Given the description of an element on the screen output the (x, y) to click on. 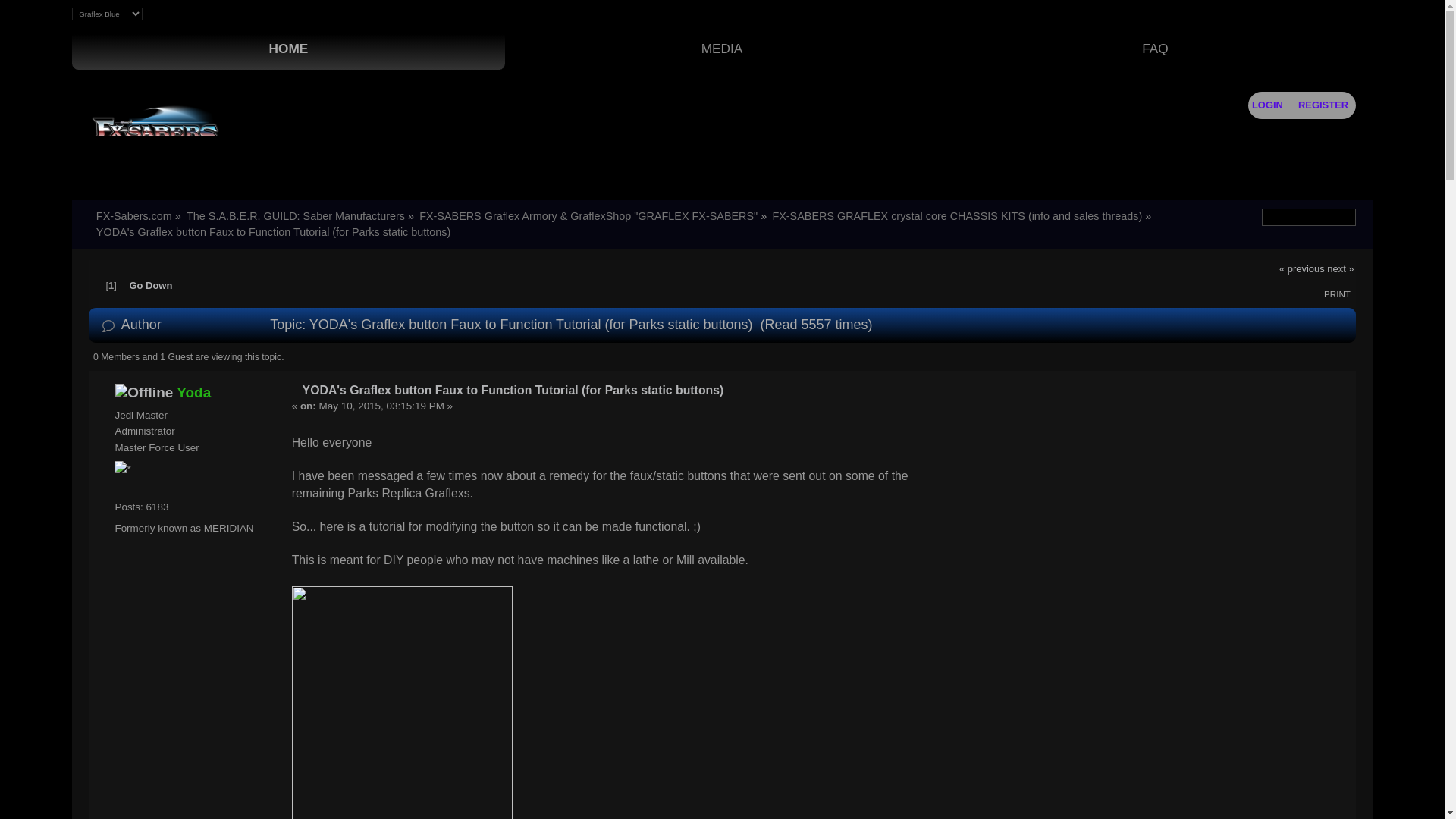
The S.A.B.E.R. GUILD: Saber Manufacturers (295, 215)
Home (288, 49)
View the profile of Yoda (193, 392)
HOME (288, 49)
REGISTER (1323, 104)
FAQ (1156, 49)
Go Down (149, 285)
FX-Sabers.com (133, 215)
